Given the description of an element on the screen output the (x, y) to click on. 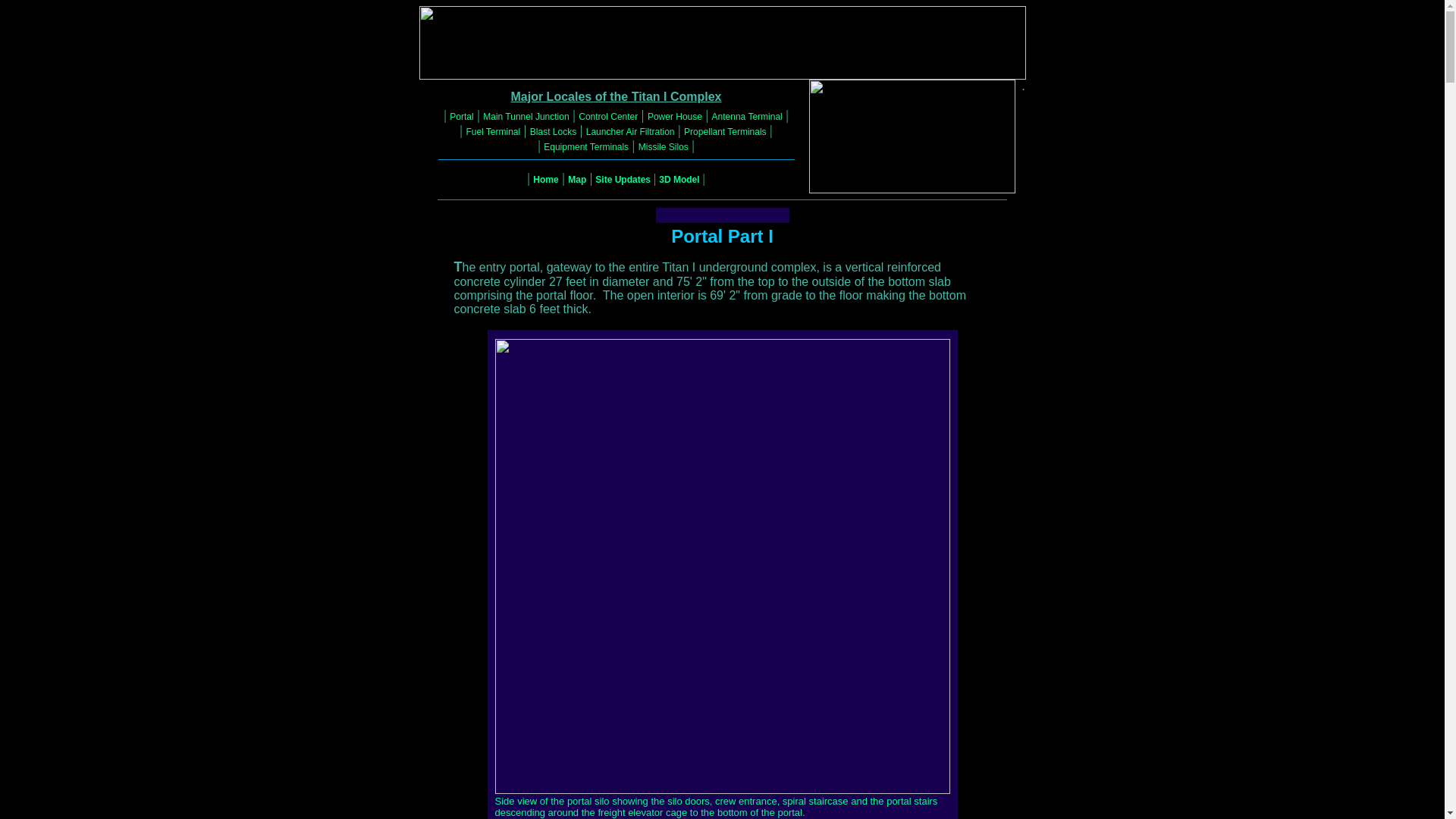
Antenna Terminal (747, 116)
Main Tunnel Junction (526, 116)
Blast Locks (552, 131)
Equipment Terminals (585, 146)
Fuel Terminal (492, 131)
3D Model (678, 179)
Home (544, 179)
Launcher Air Filtration (630, 131)
Missile Silos (663, 146)
Control Center (607, 116)
Portal (461, 116)
Propellant Terminals (725, 131)
Map (576, 179)
Power House (674, 116)
Site Updates (622, 179)
